Given the description of an element on the screen output the (x, y) to click on. 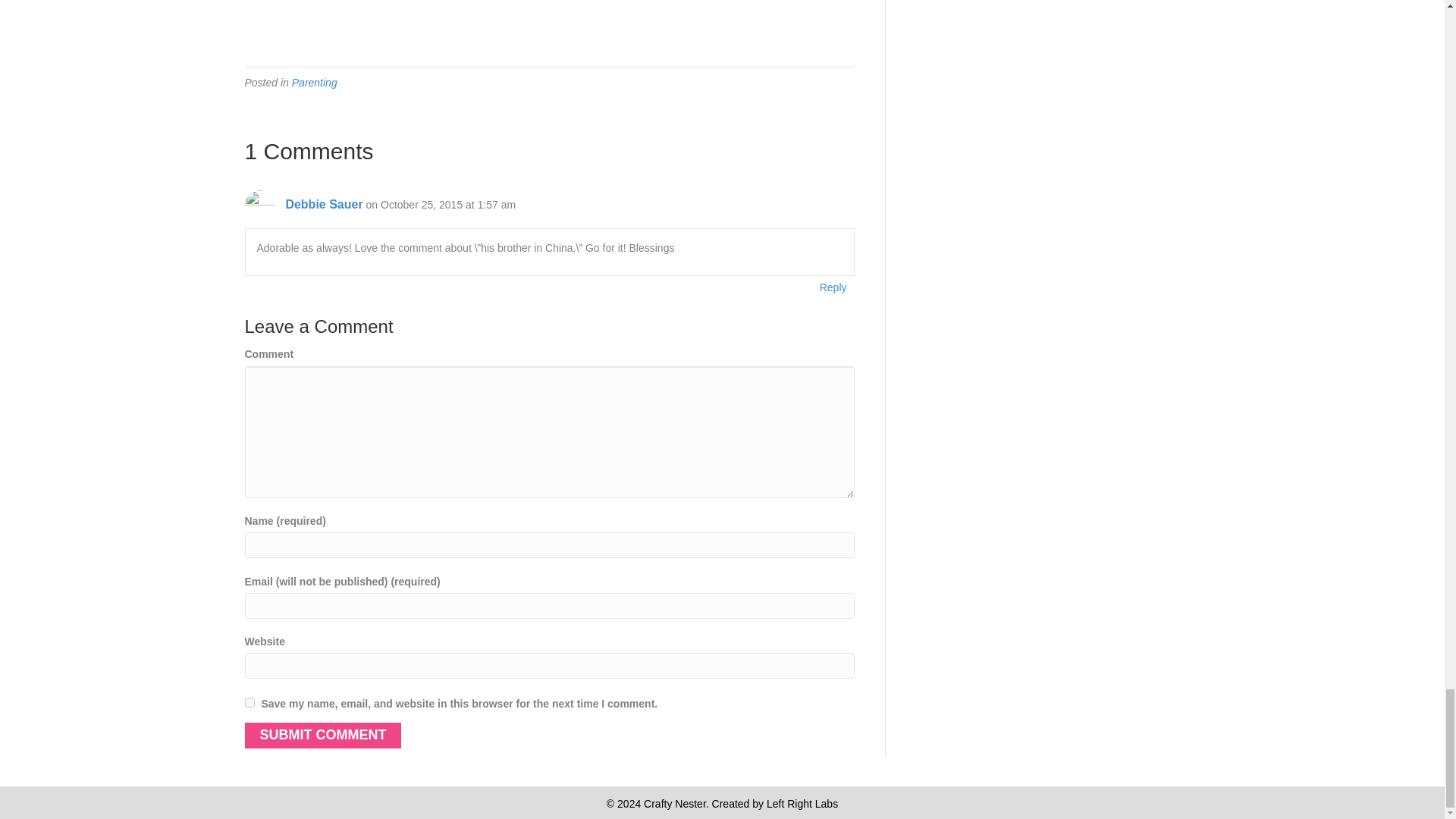
Debbie Sauer (323, 204)
Parenting (314, 82)
Submit Comment (322, 735)
yes (248, 702)
